Given the description of an element on the screen output the (x, y) to click on. 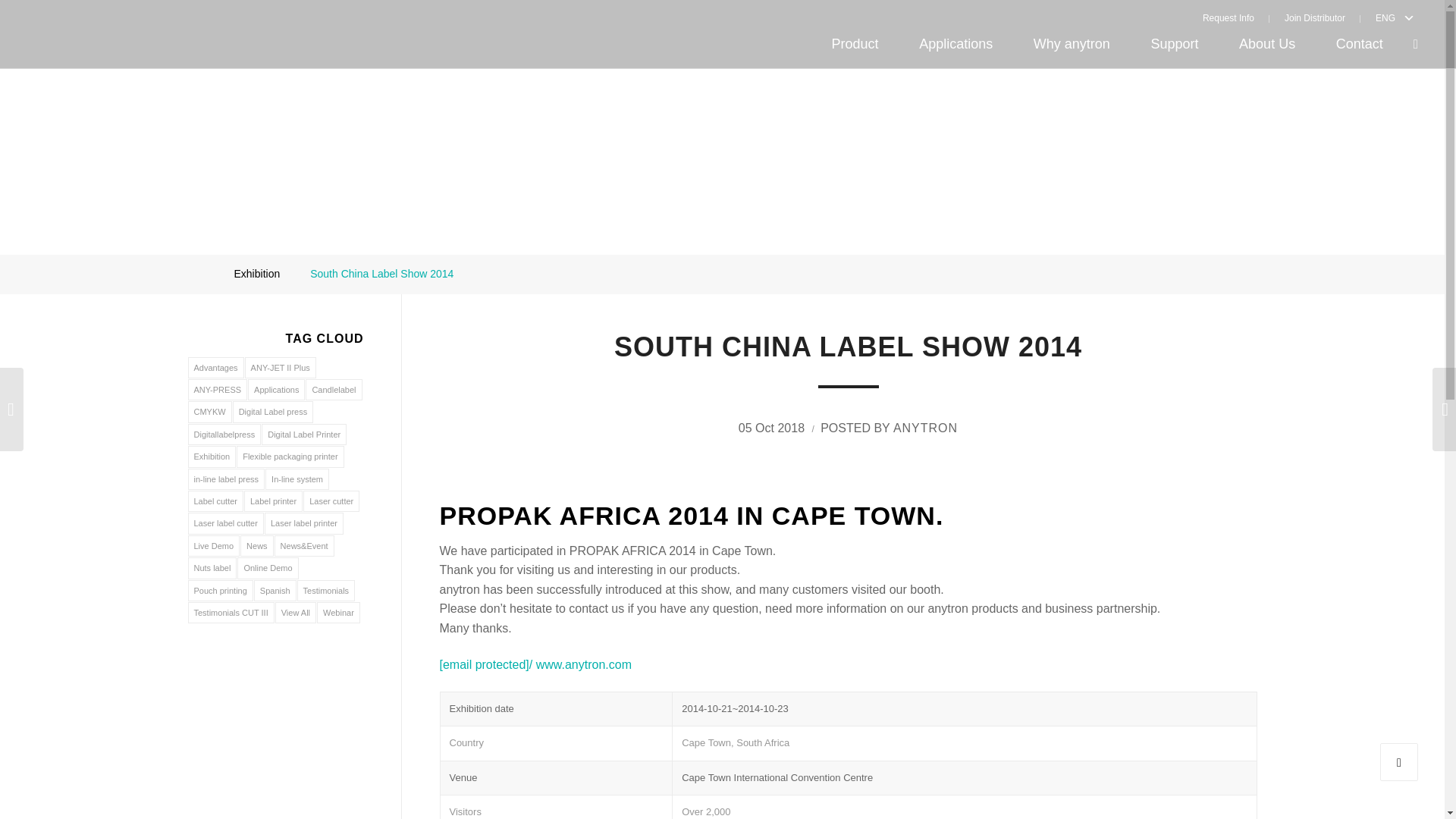
Applications (955, 44)
ENG (1381, 17)
Scroll to top (1399, 761)
Join Distributor (1314, 17)
Request Info (1235, 17)
Product (855, 44)
Anytron - Digital Print Pro (196, 274)
